Given the description of an element on the screen output the (x, y) to click on. 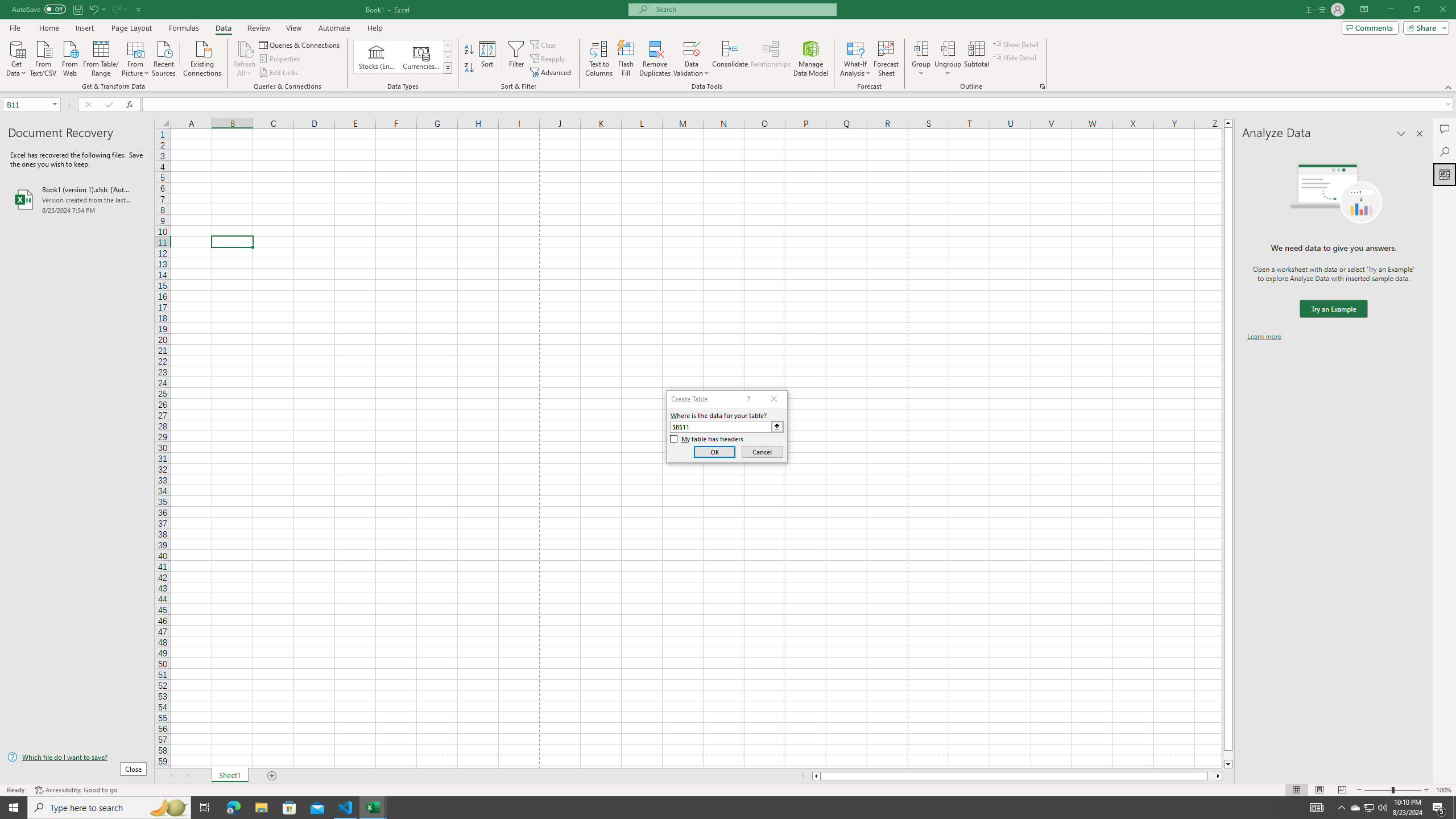
Zoom In (1426, 790)
Page down (1228, 755)
Page right (1211, 775)
From Web (69, 57)
Task Pane Options (1400, 133)
Sort A to Z (469, 49)
Sheet1 (229, 775)
From Table/Range (100, 57)
Data Validation... (691, 48)
Page Layout (1318, 790)
From Picture (135, 57)
Line down (1228, 764)
Consolidate... (729, 58)
Flash Fill (625, 58)
Page Layout (131, 28)
